Given the description of an element on the screen output the (x, y) to click on. 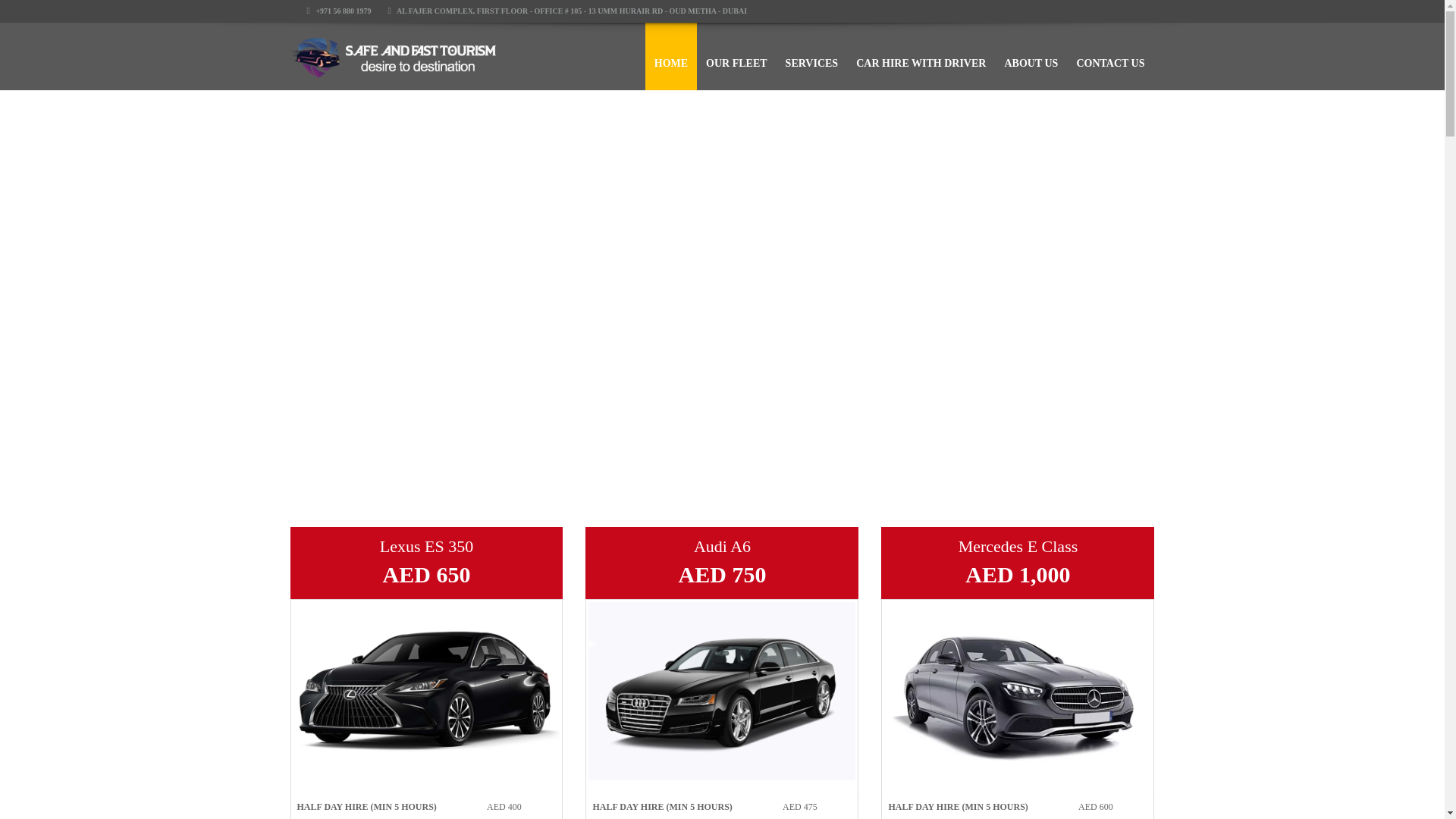
OUR FLEET (736, 56)
CAR HIRE WITH DRIVER (920, 56)
SERVICES (811, 56)
